Given the description of an element on the screen output the (x, y) to click on. 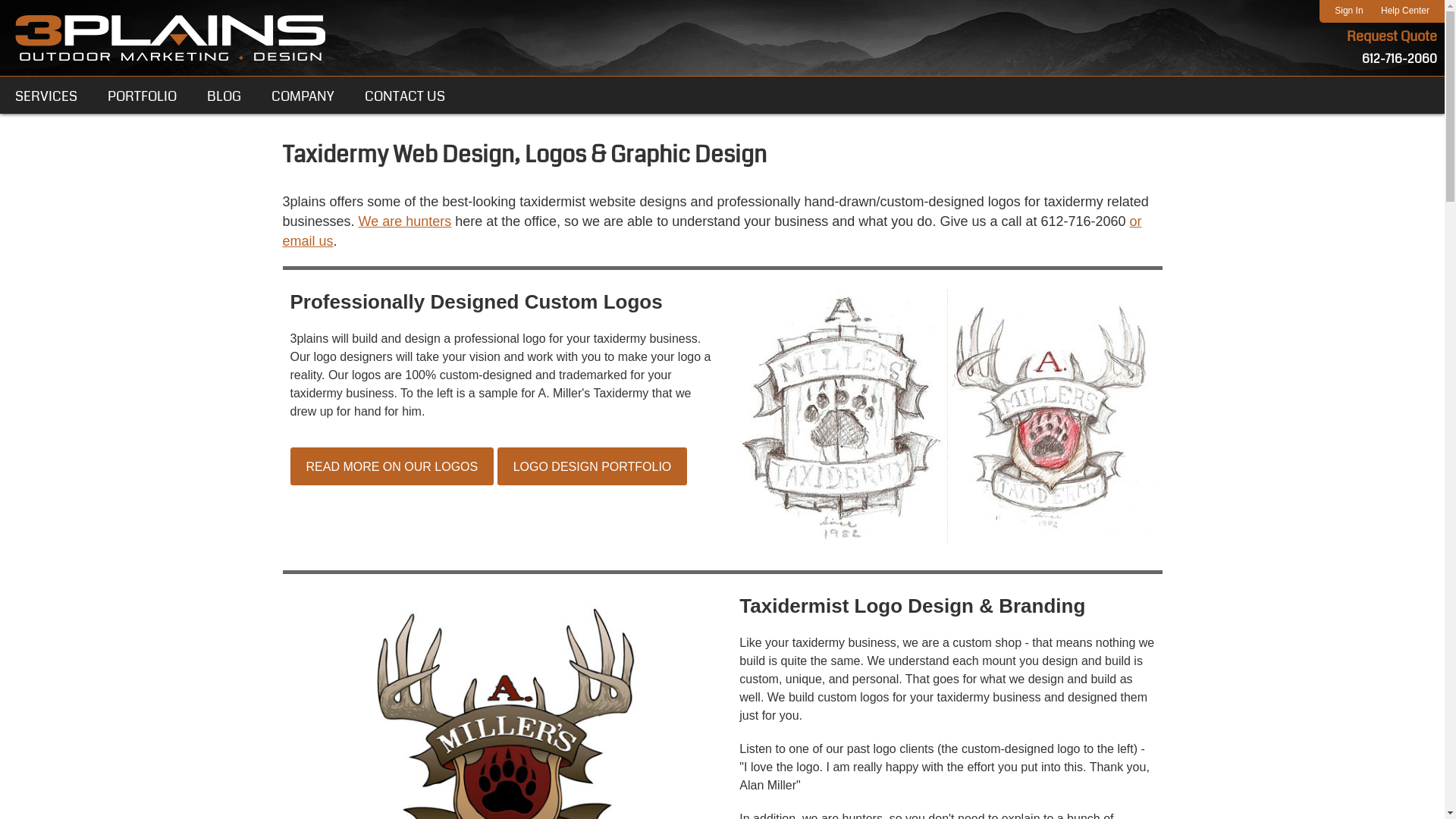
3plains Logo Element type: hover (170, 37)
We are hunters Element type: text (404, 221)
or email us Element type: text (711, 230)
Professionally Designed Custom Logos Element type: hover (934, 425)
CONTACT US Element type: text (404, 94)
Help Center Element type: text (1405, 10)
LOGO DESIGN PORTFOLIO Element type: text (592, 466)
Sign In Element type: text (1348, 10)
612-716-2060 Element type: text (1399, 57)
COMPANY Element type: text (302, 94)
PORTFOLIO Element type: text (141, 94)
SERVICES Element type: text (46, 94)
BLOG Element type: text (223, 94)
Request Quote Element type: text (1391, 36)
READ MORE ON OUR LOGOS Element type: text (391, 466)
